Given the description of an element on the screen output the (x, y) to click on. 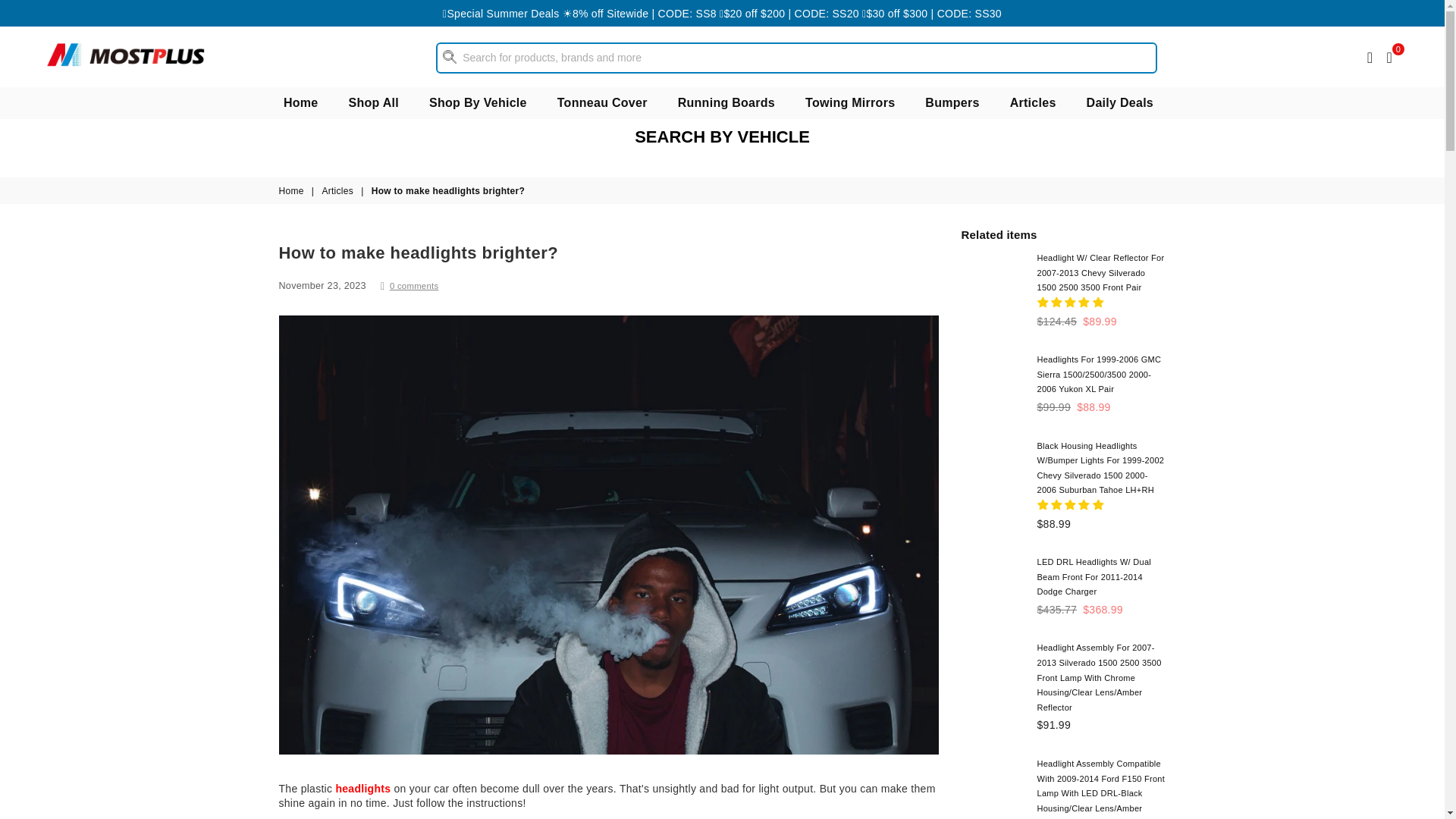
headlight assemblies (362, 788)
Search (796, 57)
Shop All (373, 102)
Back to the home page (292, 191)
MOSTPLUS (127, 53)
Home (301, 102)
